Given the description of an element on the screen output the (x, y) to click on. 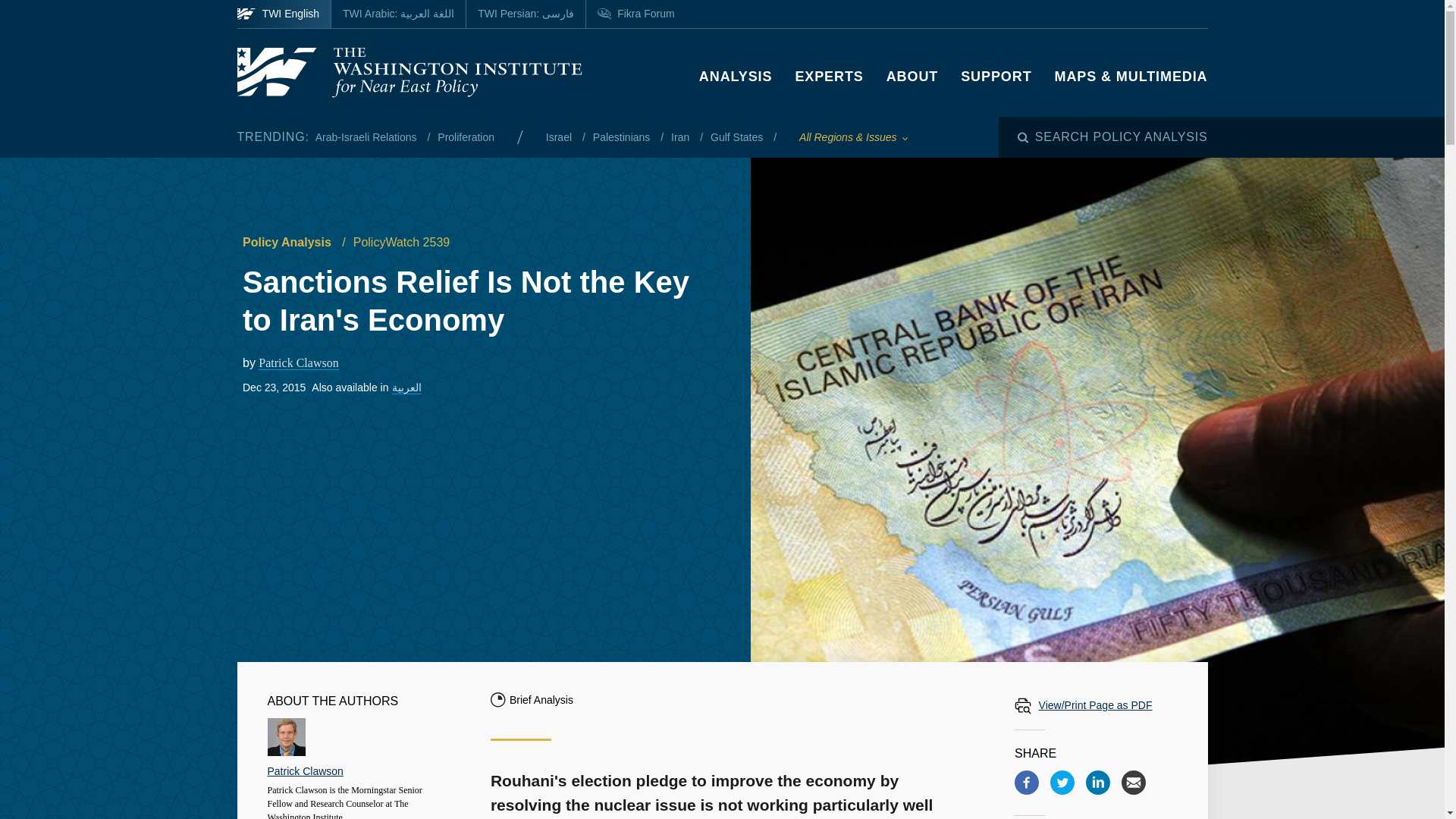
ANALYSIS (735, 76)
Gulf States (737, 136)
Facebook (1026, 782)
Homepage (407, 72)
Iran (682, 136)
ABOUT (912, 76)
Arab-Israeli Relations (367, 136)
Israel (560, 136)
Twitter (1061, 782)
Proliferation (466, 136)
EXPERTS (828, 76)
Palestinians (622, 136)
Email (1133, 782)
SUPPORT (995, 76)
